Given the description of an element on the screen output the (x, y) to click on. 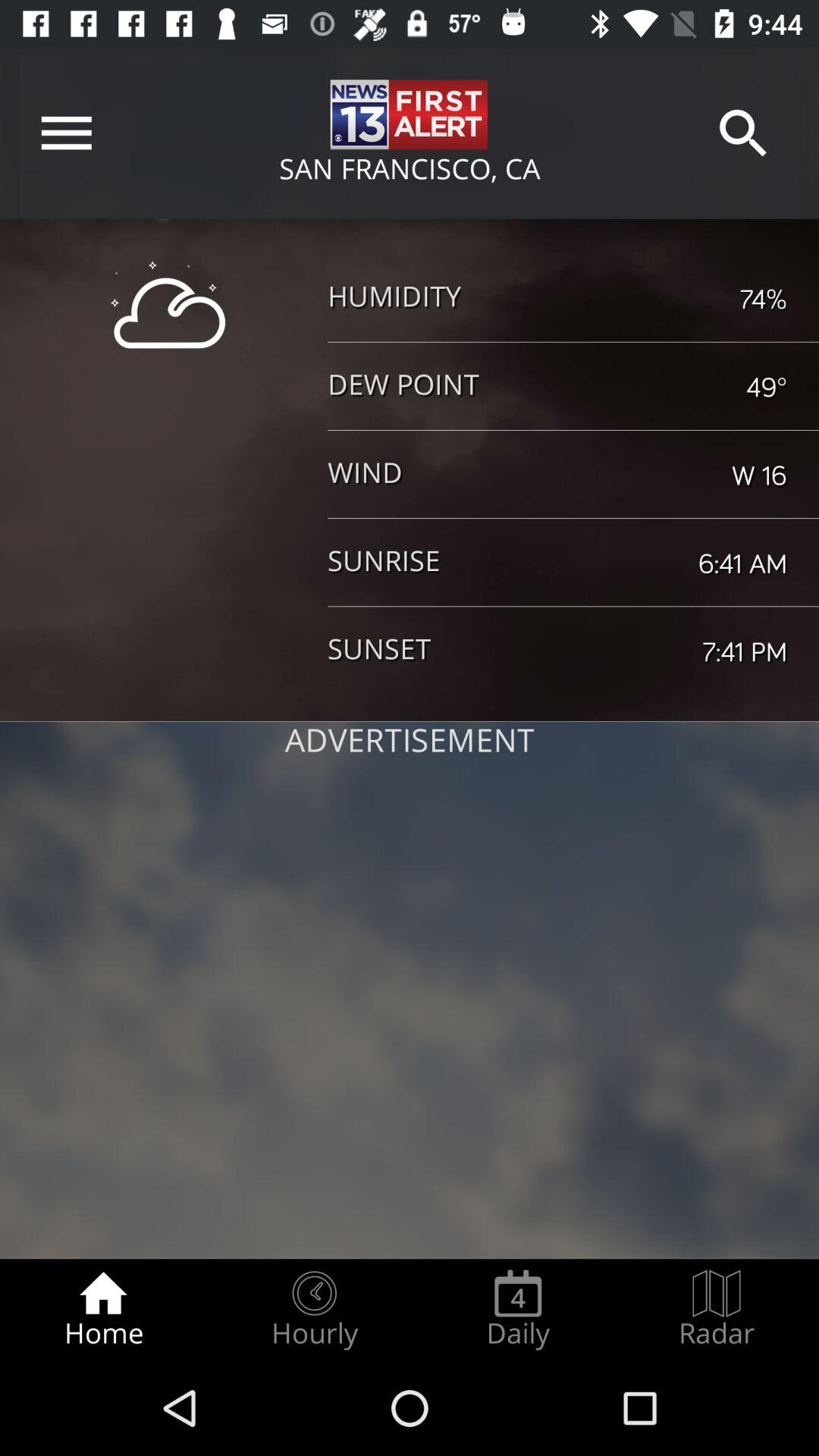
tap item at the bottom right corner (716, 1309)
